Given the description of an element on the screen output the (x, y) to click on. 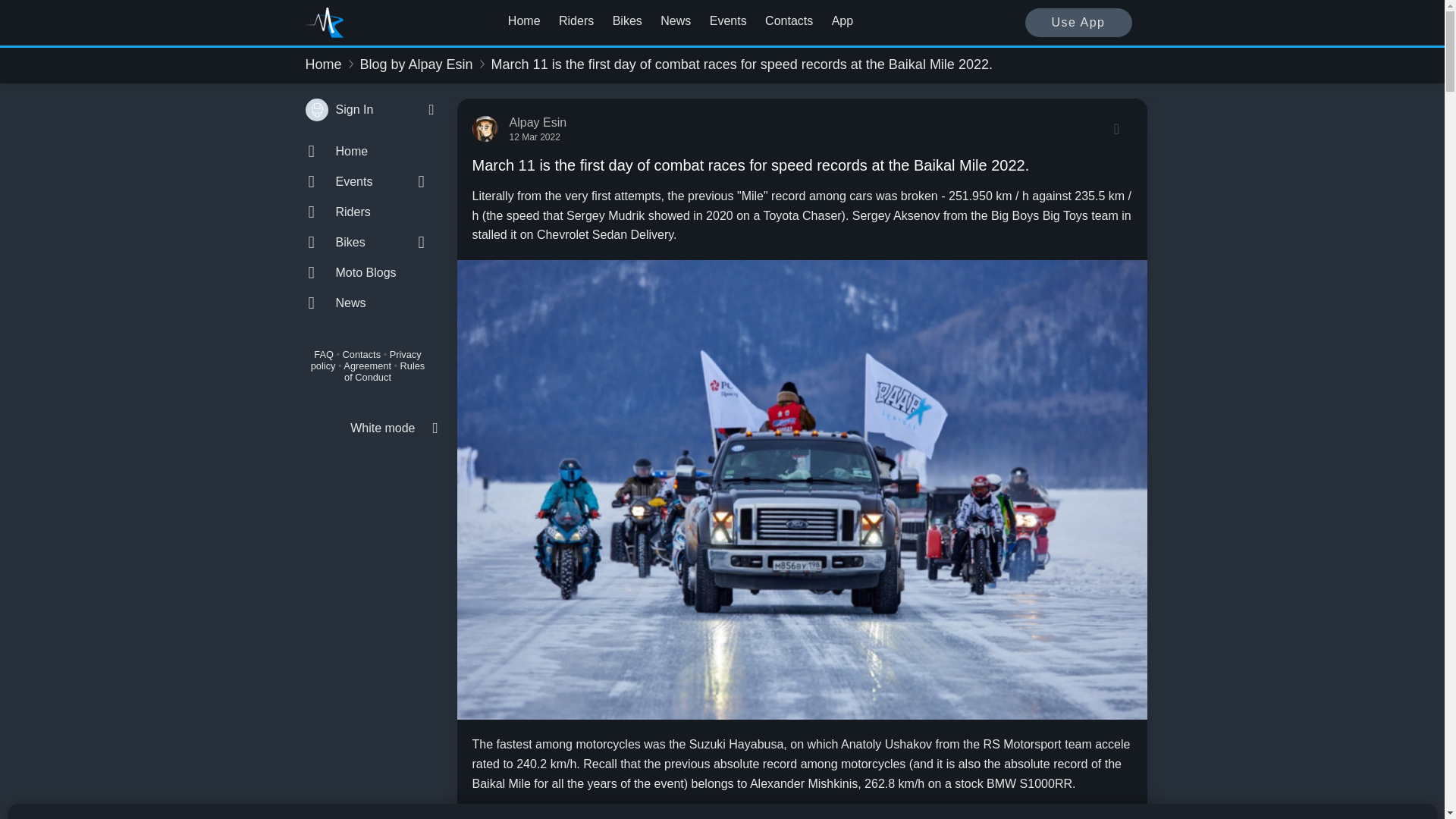
Riders (367, 212)
Home (524, 21)
News (675, 21)
FAQ (323, 354)
Contacts (788, 21)
Blog by Alpay Esin (416, 64)
Moto Blogs (367, 272)
Riders (576, 21)
Privacy policy (366, 359)
Home (322, 64)
News (367, 303)
Bikes (352, 242)
Use App (1078, 22)
Bikes (627, 21)
Events (728, 21)
